Given the description of an element on the screen output the (x, y) to click on. 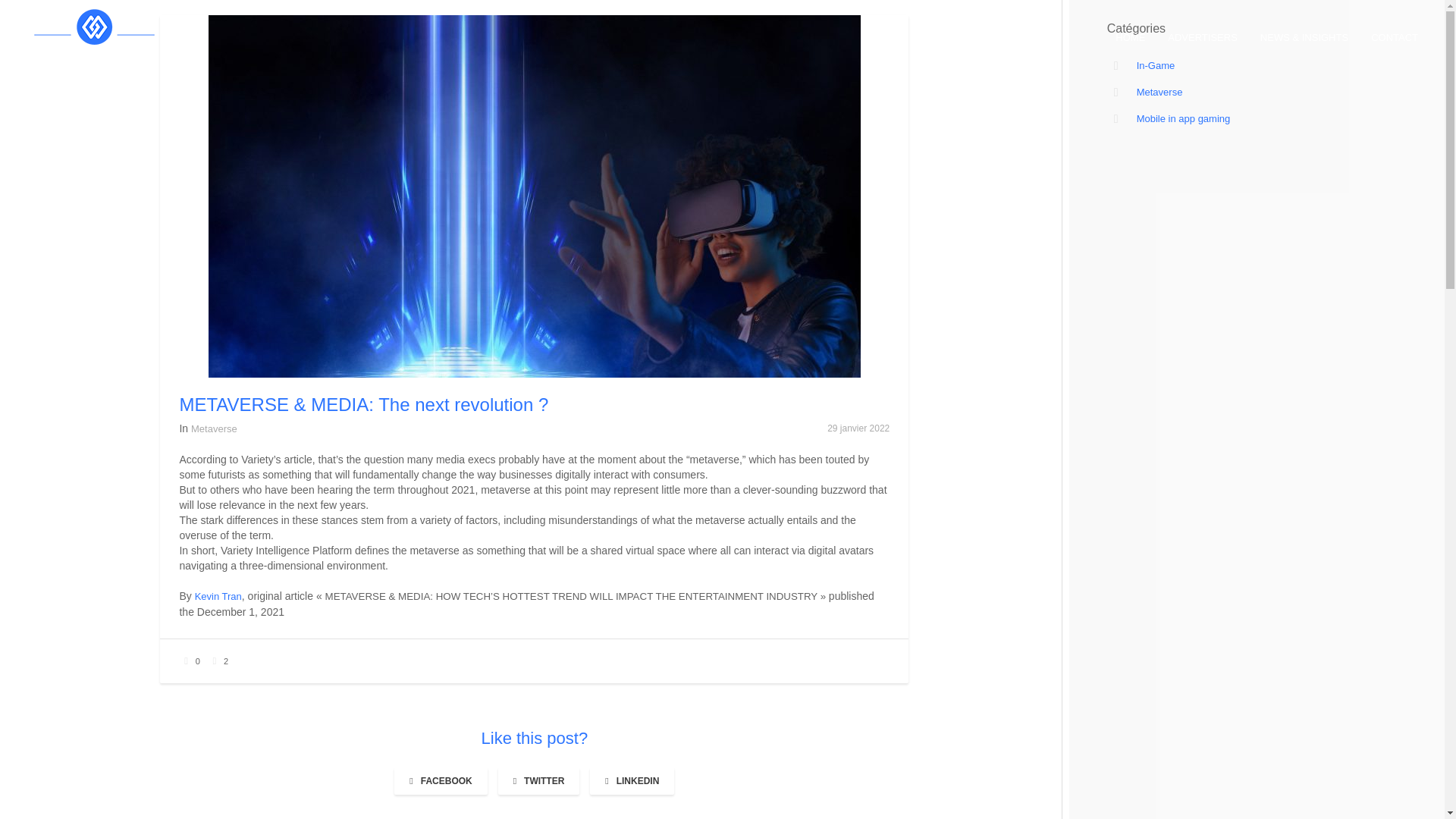
HOME (1129, 37)
0 (189, 661)
FACEBOOK (440, 780)
Metaverse (213, 428)
CONTACT (1394, 37)
2 (218, 661)
Kevin Tran (218, 595)
TWITTER (538, 780)
ADVERTISERS (1202, 37)
LINKEDIN (631, 780)
29 janvier 2022 (858, 427)
Mowo Media (78, 23)
